Given the description of an element on the screen output the (x, y) to click on. 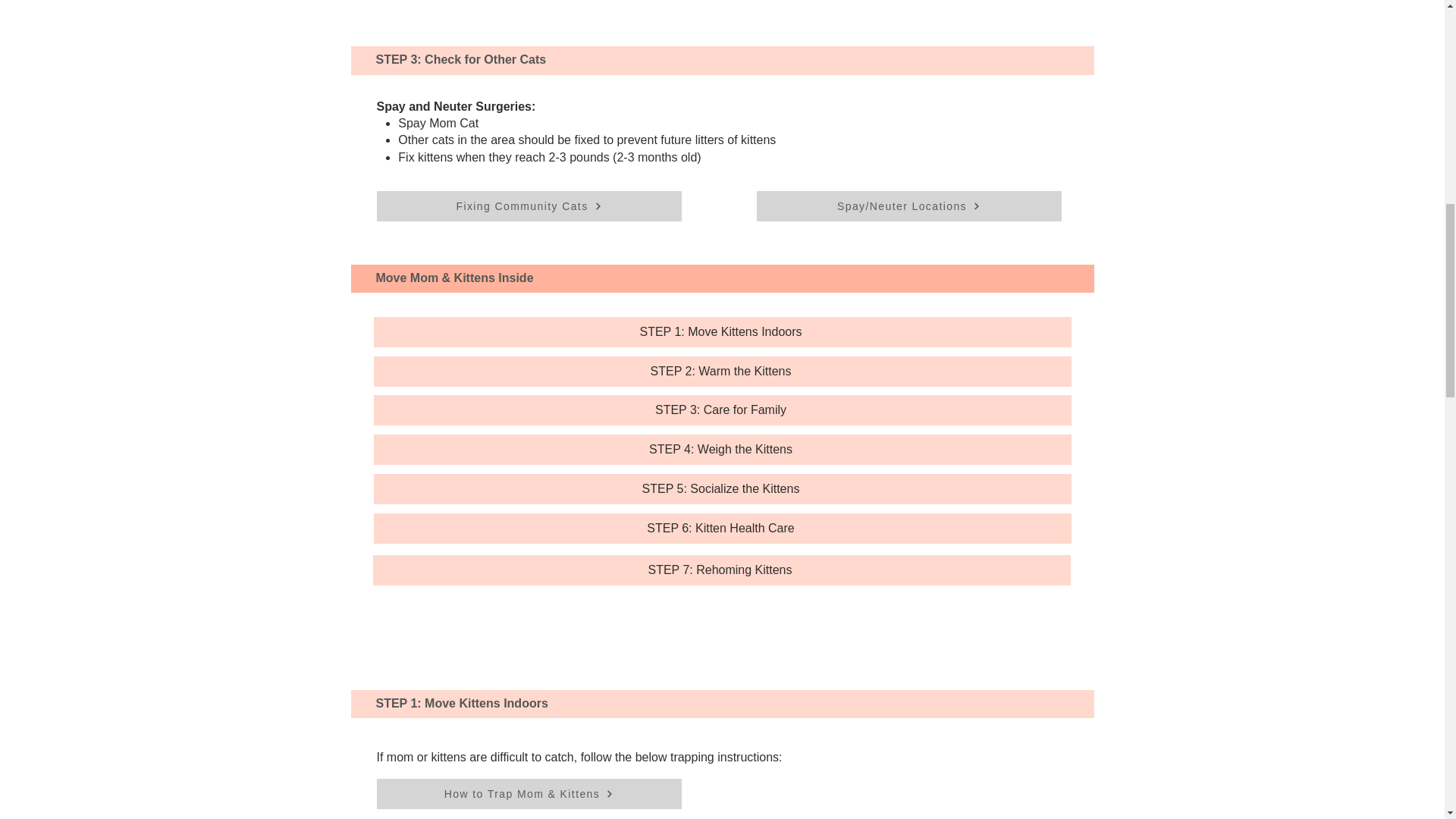
STEP 6: Kitten Health Care (721, 528)
STEP 2: Warm the Kittens (721, 371)
STEP 5: Socialize the Kittens (721, 489)
STEP 4: Weigh the Kittens (721, 449)
STEP 7: Rehoming Kittens (721, 570)
STEP 3: Care for Family (721, 409)
Fixing Community Cats (528, 205)
STEP 1: Move Kittens Indoors (721, 331)
